Given the description of an element on the screen output the (x, y) to click on. 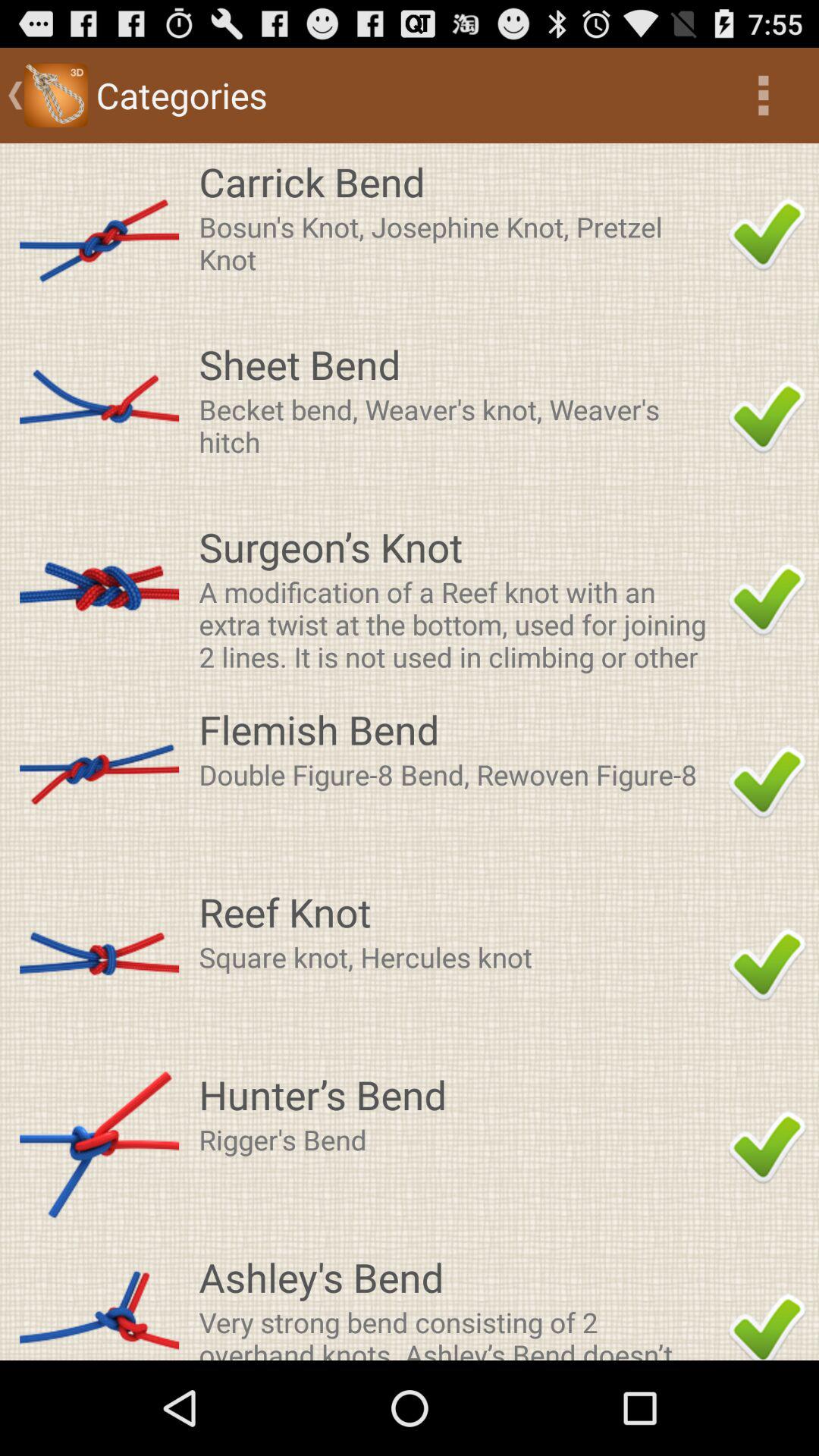
select item next to categories icon (763, 95)
